Given the description of an element on the screen output the (x, y) to click on. 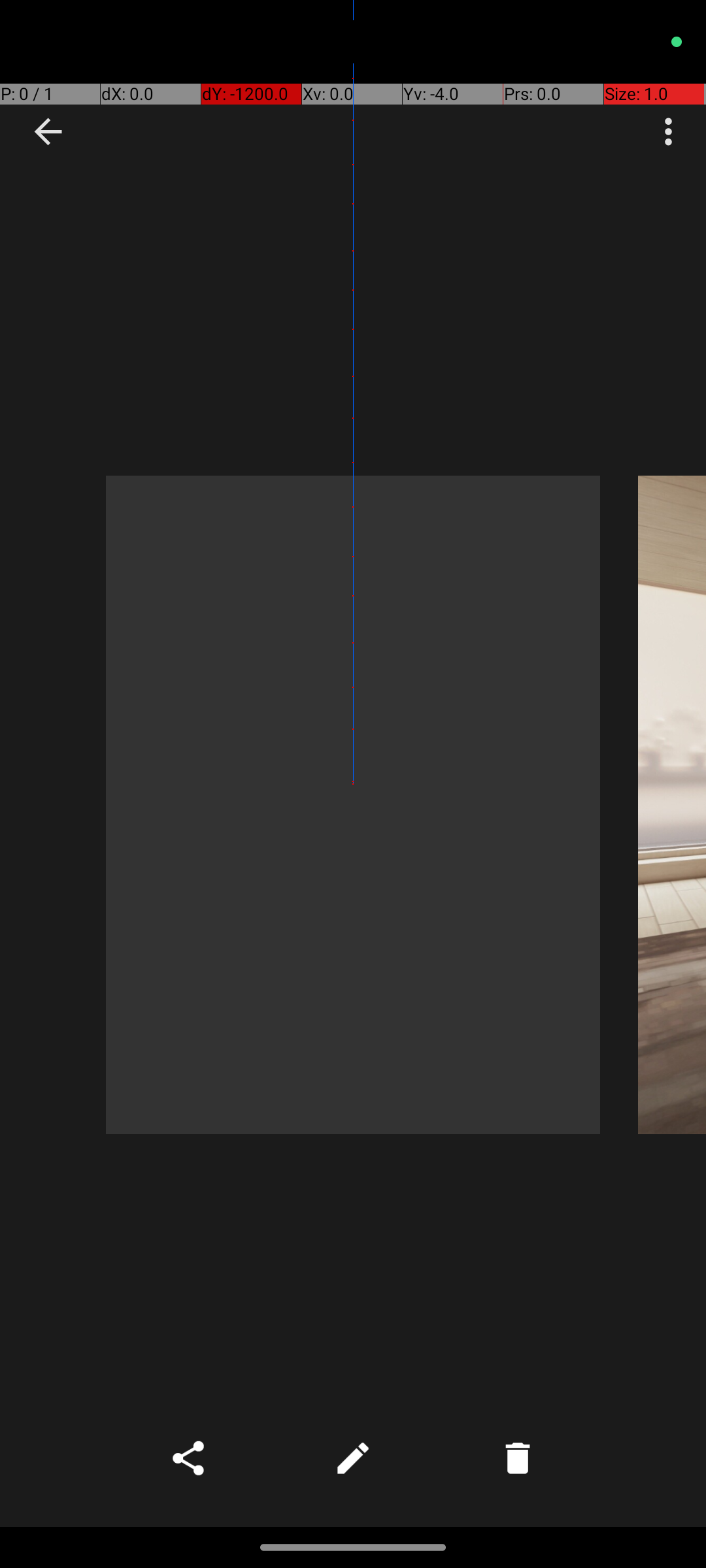
Edit Element type: android.widget.ImageButton (352, 1458)
Delete Element type: android.widget.ImageButton (517, 1458)
Navigate up Element type: android.widget.ImageButton (48, 131)
Photo taken on Oct 15, 2023 15:34:31 Element type: android.widget.ImageView (352, 804)
Photo taken on Oct 15, 2023 15:34:14 Element type: android.widget.ImageView (672, 804)
